Given the description of an element on the screen output the (x, y) to click on. 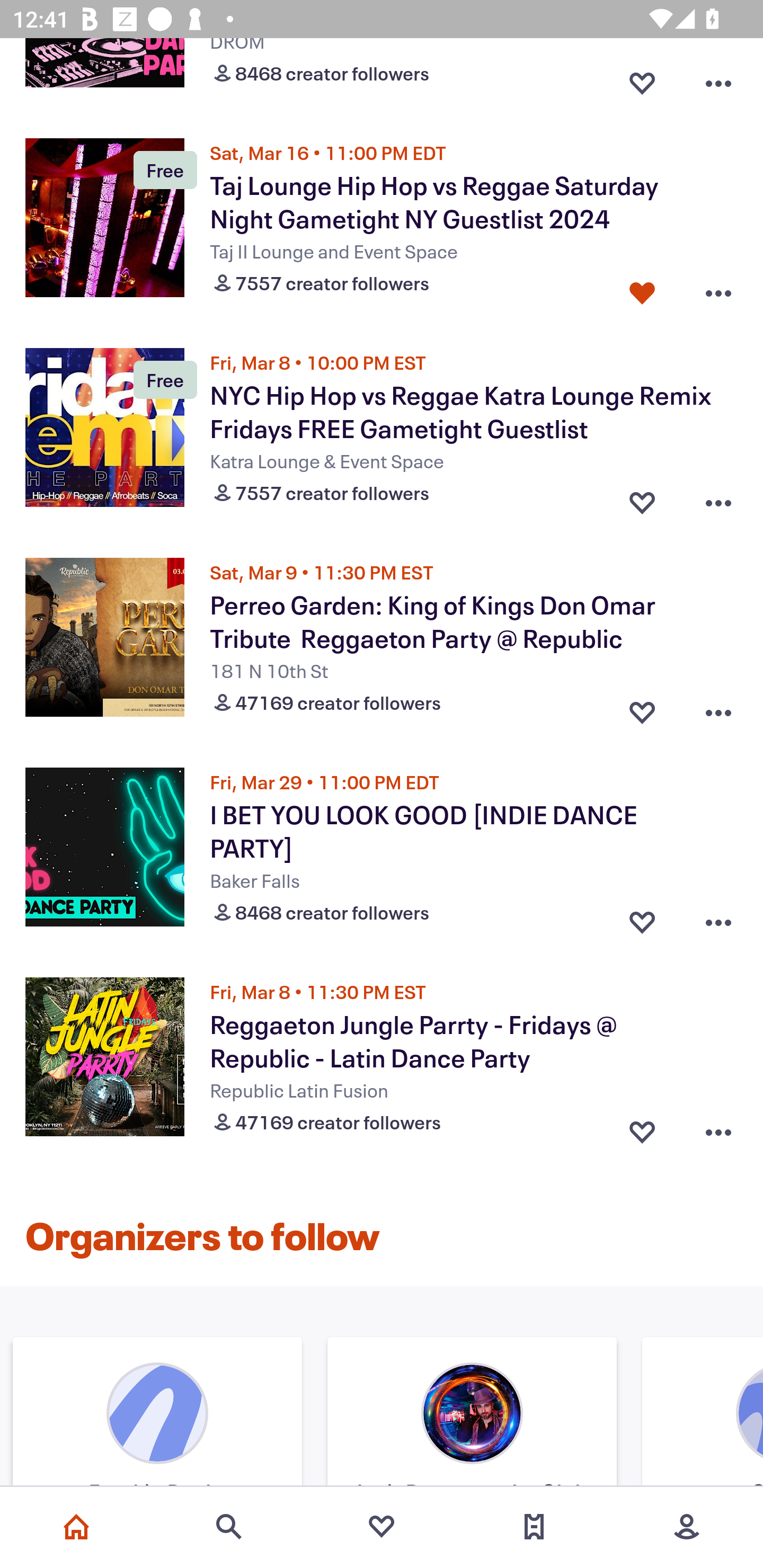
Favorite button (642, 78)
Overflow menu button (718, 78)
Favorite button (642, 289)
Overflow menu button (718, 289)
Favorite button (642, 499)
Overflow menu button (718, 499)
Favorite button (642, 707)
Overflow menu button (718, 707)
Favorite button (642, 917)
Overflow menu button (718, 917)
Favorite button (642, 1127)
Overflow menu button (718, 1127)
Organizer's image Frankie Banks (157, 1414)
Organizer's image LatinParty.com by Club Cache (471, 1414)
Home (76, 1526)
Search events (228, 1526)
Favorites (381, 1526)
Tickets (533, 1526)
More (686, 1526)
